Given the description of an element on the screen output the (x, y) to click on. 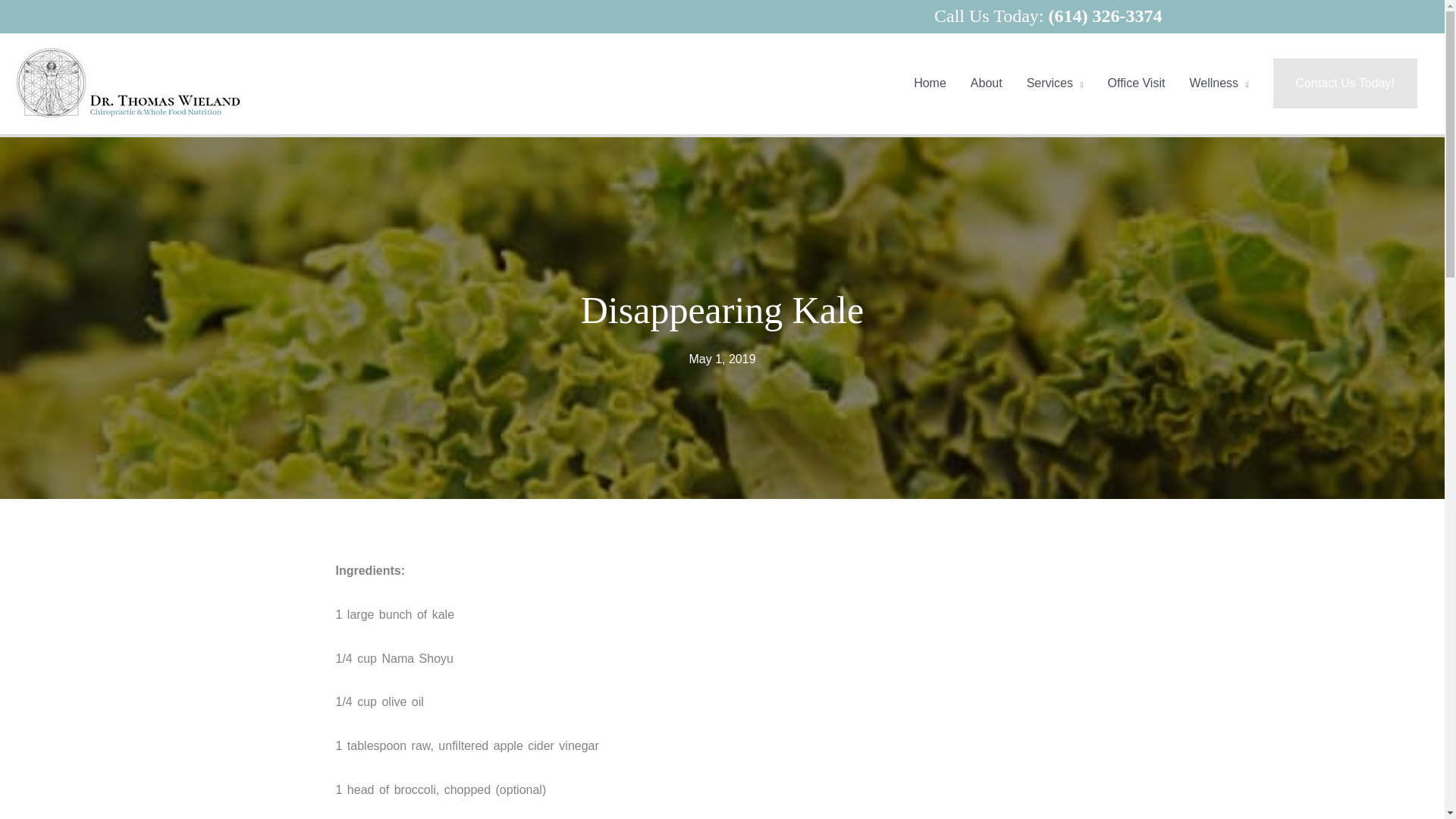
Home (929, 83)
Wellness (1218, 83)
Services (1055, 83)
About (986, 83)
Office Visit (1136, 83)
Contact Us Today! (1344, 83)
